Given the description of an element on the screen output the (x, y) to click on. 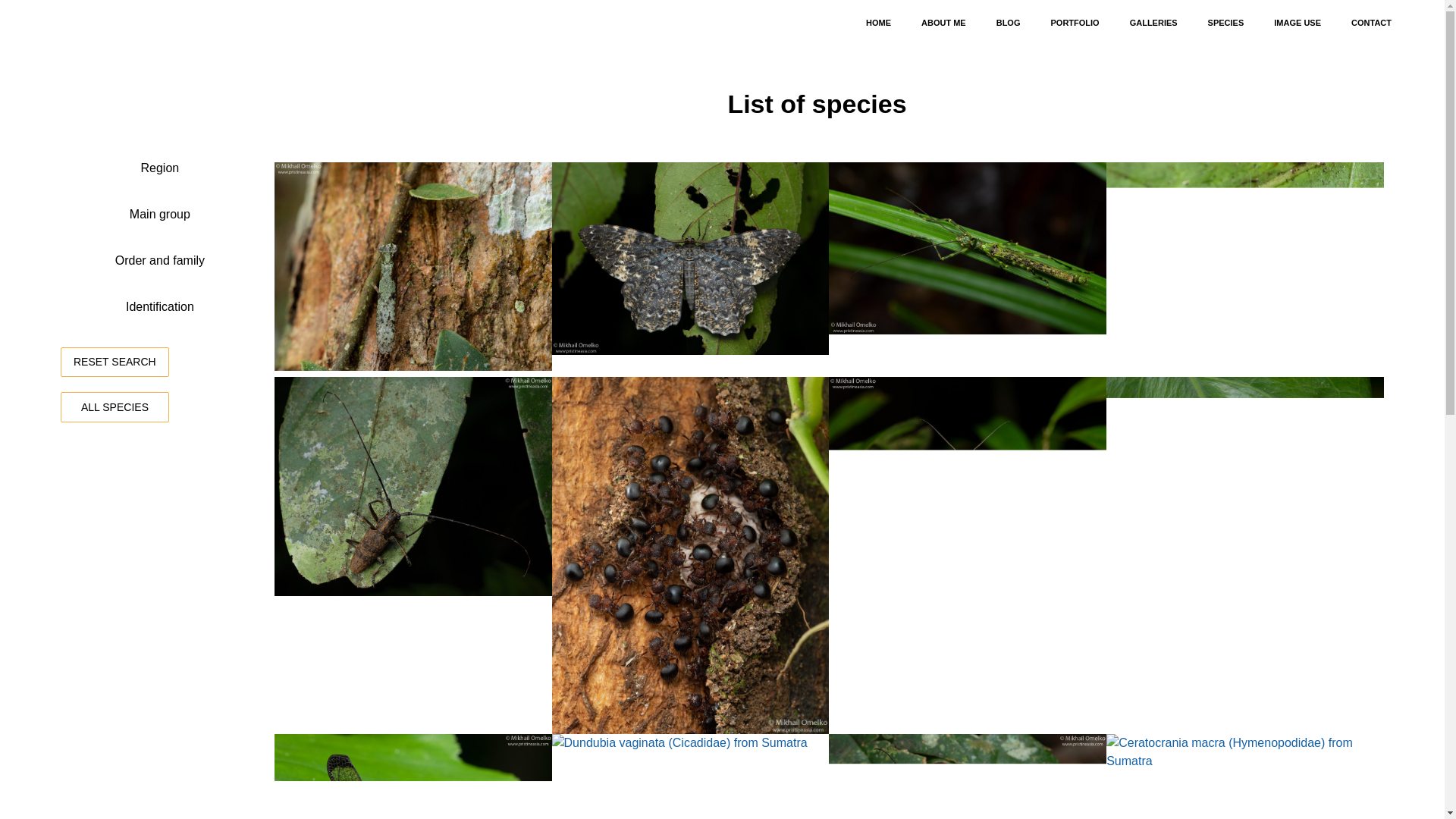
GALLERIES (1153, 22)
SPECIES (1225, 22)
PORTFOLIO (1074, 22)
IMAGE USE (1297, 22)
CONTACT (1371, 22)
HOME (877, 22)
ABOUT ME (943, 22)
BLOG (1008, 22)
